Given the description of an element on the screen output the (x, y) to click on. 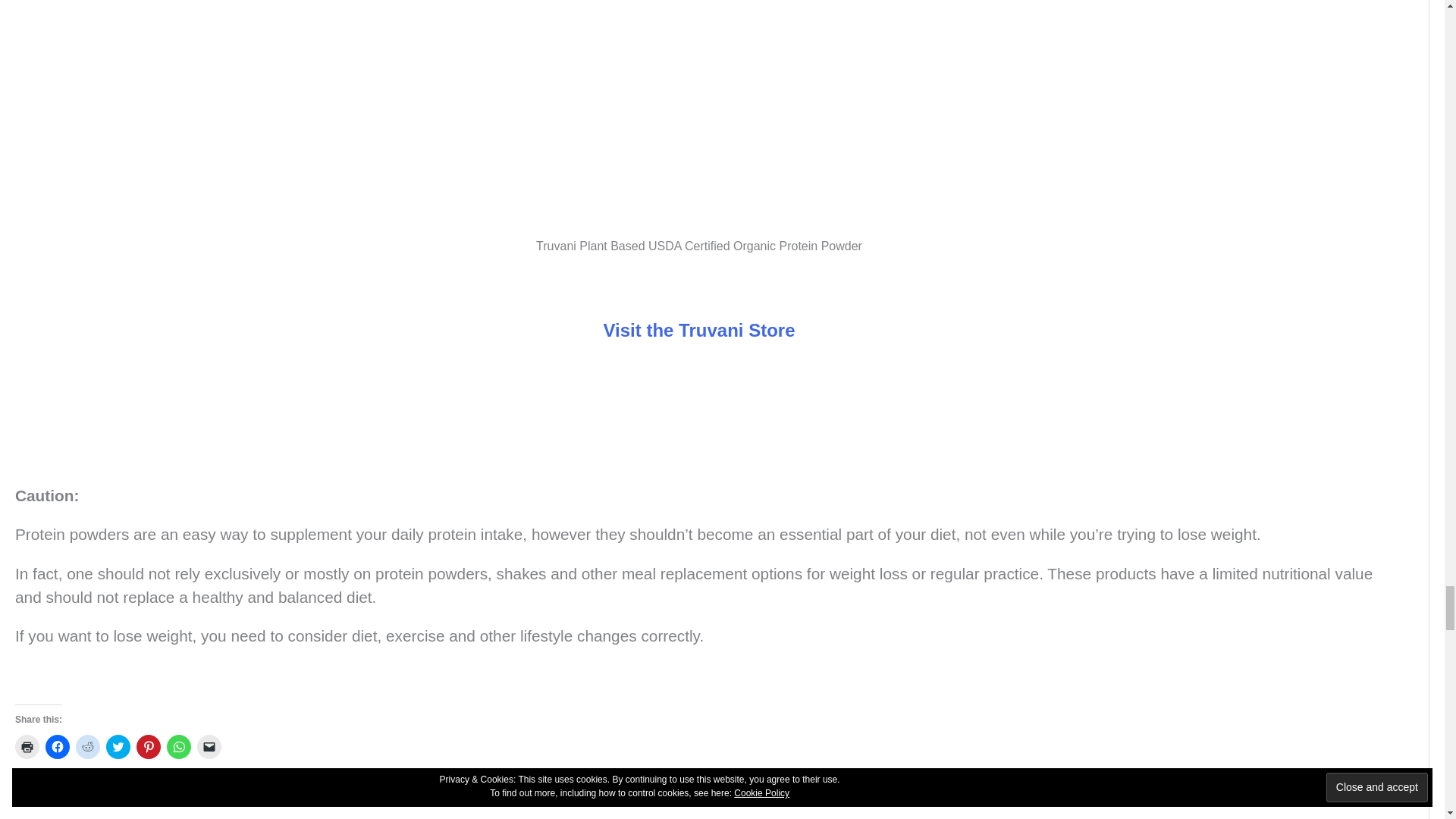
Click to share on WhatsApp (178, 746)
Click to email a link to a friend (208, 746)
Click to share on Reddit (87, 746)
Click to print (26, 746)
Click to share on Facebook (57, 746)
Click to share on Twitter (118, 746)
Click to share on Pinterest (148, 746)
